Given the description of an element on the screen output the (x, y) to click on. 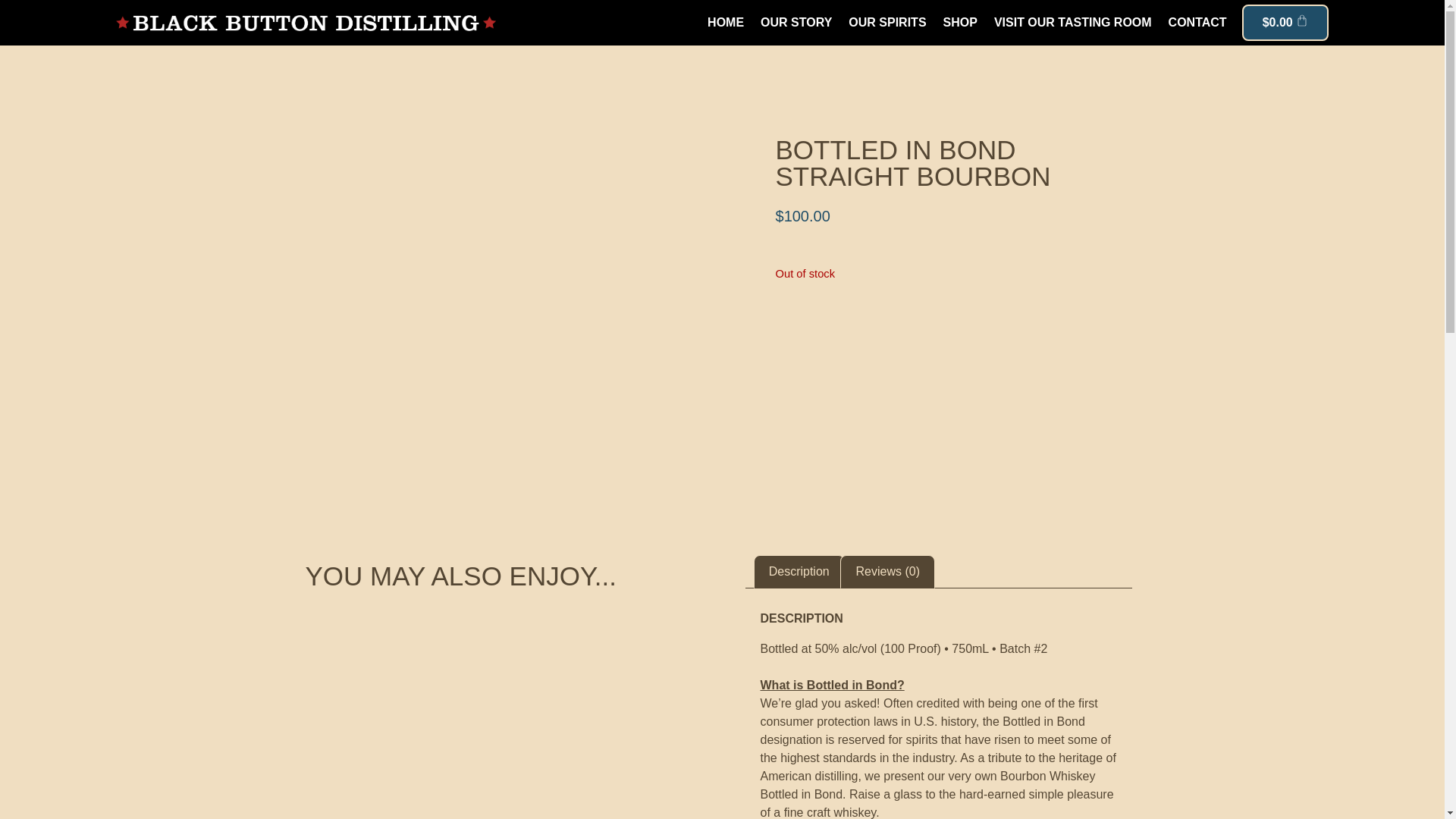
SHOP (960, 22)
VISIT OUR TASTING ROOM (1072, 22)
OUR STORY (796, 22)
HOME (725, 22)
OUR SPIRITS (887, 22)
